Given the description of an element on the screen output the (x, y) to click on. 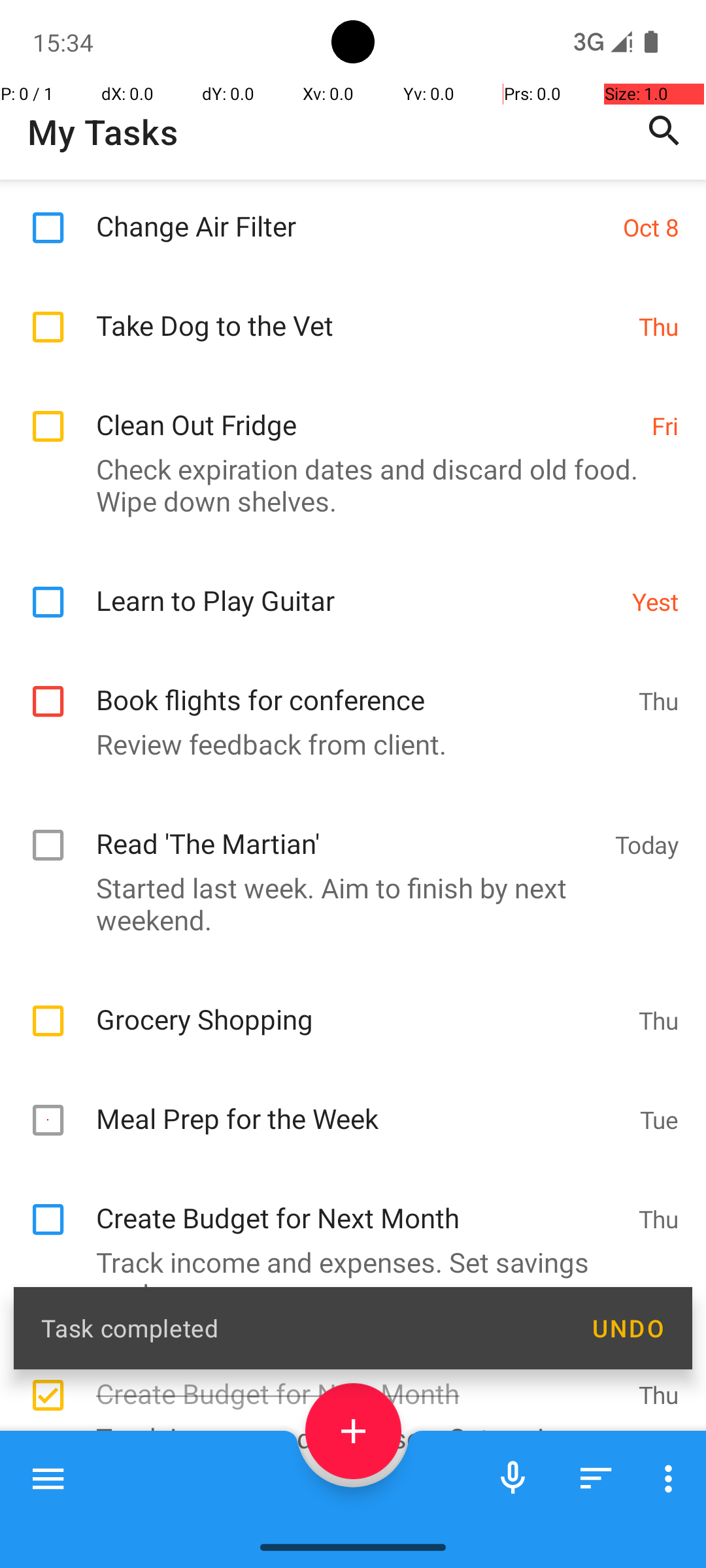
Task completed Element type: android.widget.TextView (302, 1327)
UNDO Element type: android.widget.Button (627, 1328)
Oct 8 Element type: android.widget.TextView (650, 226)
Take Dog to the Vet Element type: android.widget.TextView (360, 310)
Clean Out Fridge Element type: android.widget.TextView (367, 410)
Check expiration dates and discard old food. Wipe down shelves. Element type: android.widget.TextView (346, 484)
Learn to Play Guitar Element type: android.widget.TextView (357, 586)
Book flights for conference Element type: android.widget.TextView (360, 685)
Review feedback from client. Element type: android.widget.TextView (346, 743)
Read 'The Martian' Element type: android.widget.TextView (348, 829)
Started last week. Aim to finish by next weekend. Element type: android.widget.TextView (346, 903)
Track income and expenses. Set savings goals. Element type: android.widget.TextView (346, 1355)
Schedule Dentist Appointment Element type: android.widget.TextView (348, 1524)
